Given the description of an element on the screen output the (x, y) to click on. 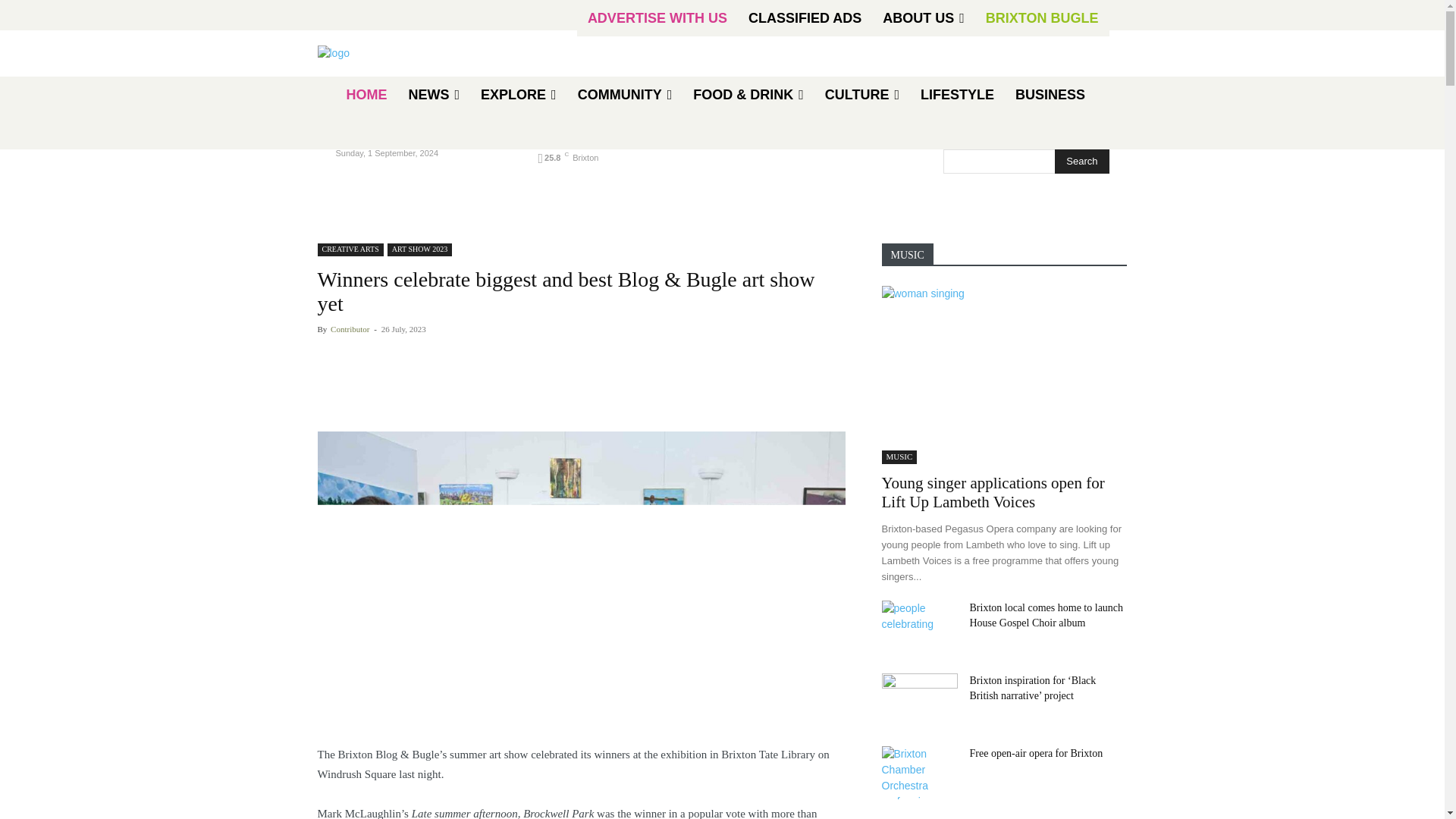
CLASSIFIED ADS (805, 18)
topFacebookLike (430, 354)
Brixton Blog (333, 53)
ABOUT US (923, 18)
Brixton Blog (425, 53)
ADVERTISE WITH US (657, 18)
BRIXTON BUGLE (1042, 18)
